Given the description of an element on the screen output the (x, y) to click on. 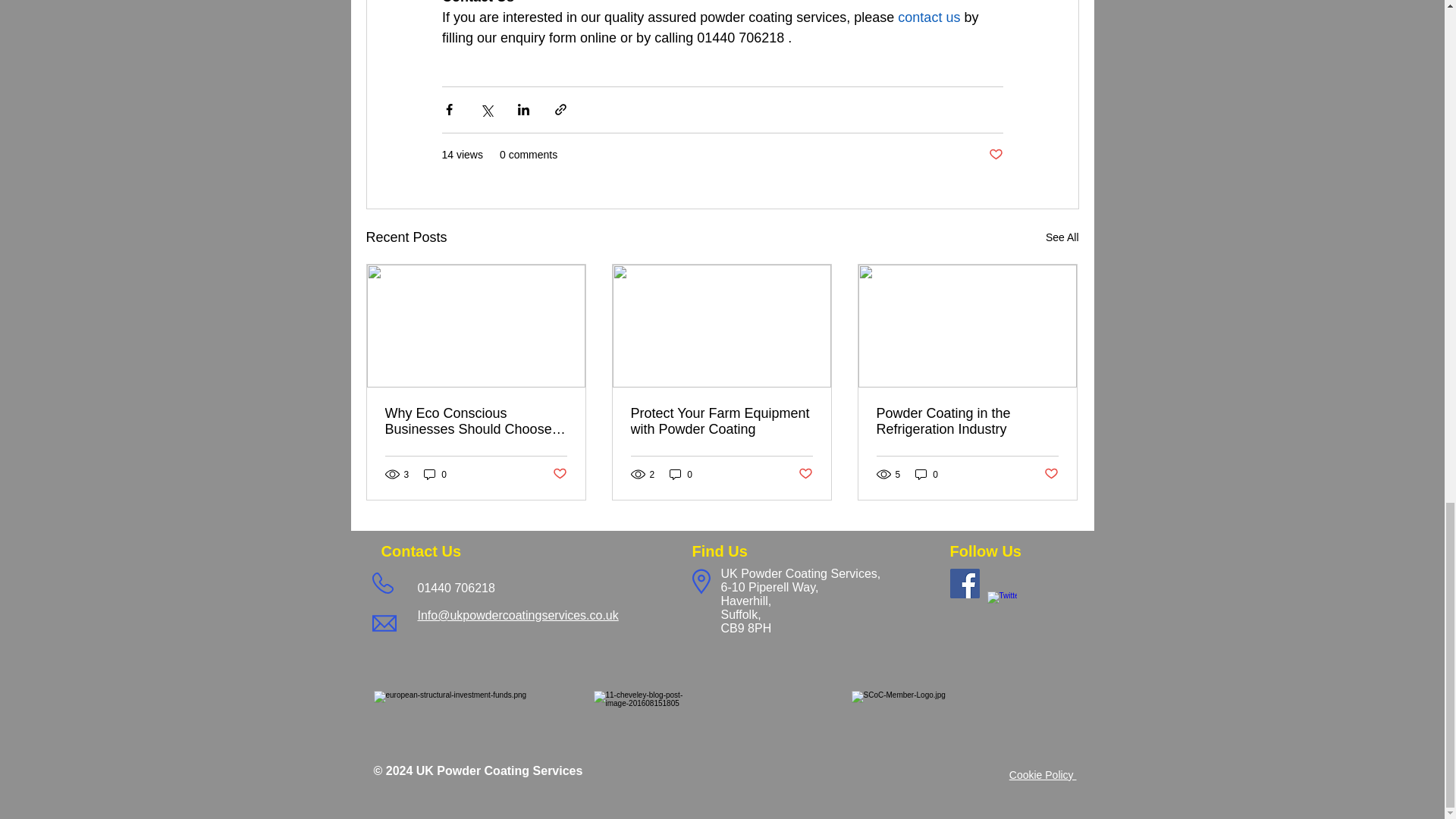
0 (435, 473)
See All (1061, 237)
Protect Your Farm Equipment with Powder Coating (721, 421)
Powder Coating in the Refrigeration Industry (967, 421)
Post not marked as liked (995, 154)
0 (681, 473)
Why Eco Conscious Businesses Should Choose Powder Coating (476, 421)
Post not marked as liked (1050, 474)
contact us (928, 17)
Post not marked as liked (558, 474)
